Given the description of an element on the screen output the (x, y) to click on. 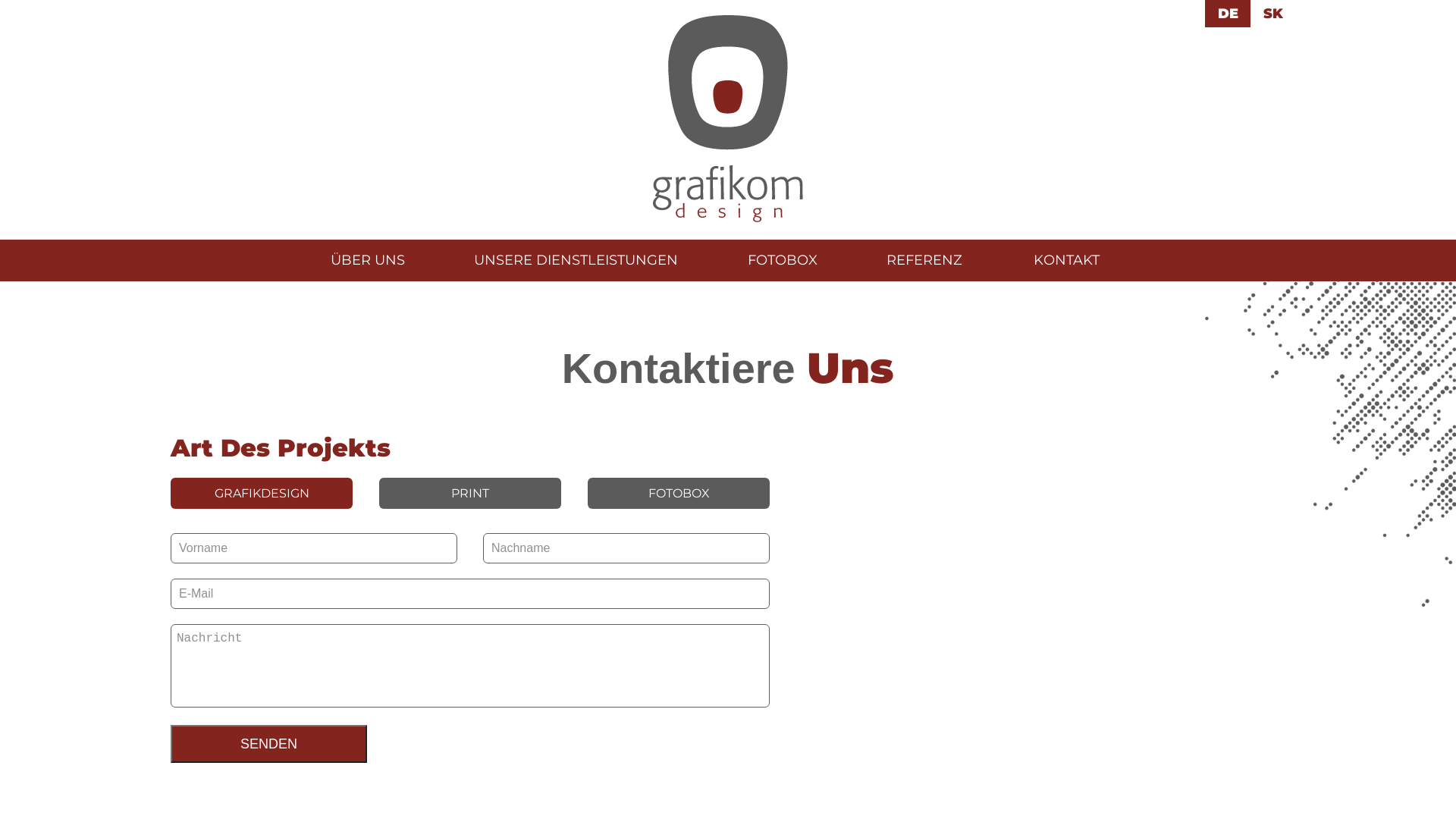
REFERENZ Element type: text (924, 259)
DE Element type: text (1227, 13)
FOTOBOX Element type: text (782, 259)
KONTAKT Element type: text (1066, 259)
SENDEN Element type: text (268, 743)
UNSERE DIENSTLEISTUNGEN Element type: text (575, 259)
SK Element type: text (1272, 13)
